Given the description of an element on the screen output the (x, y) to click on. 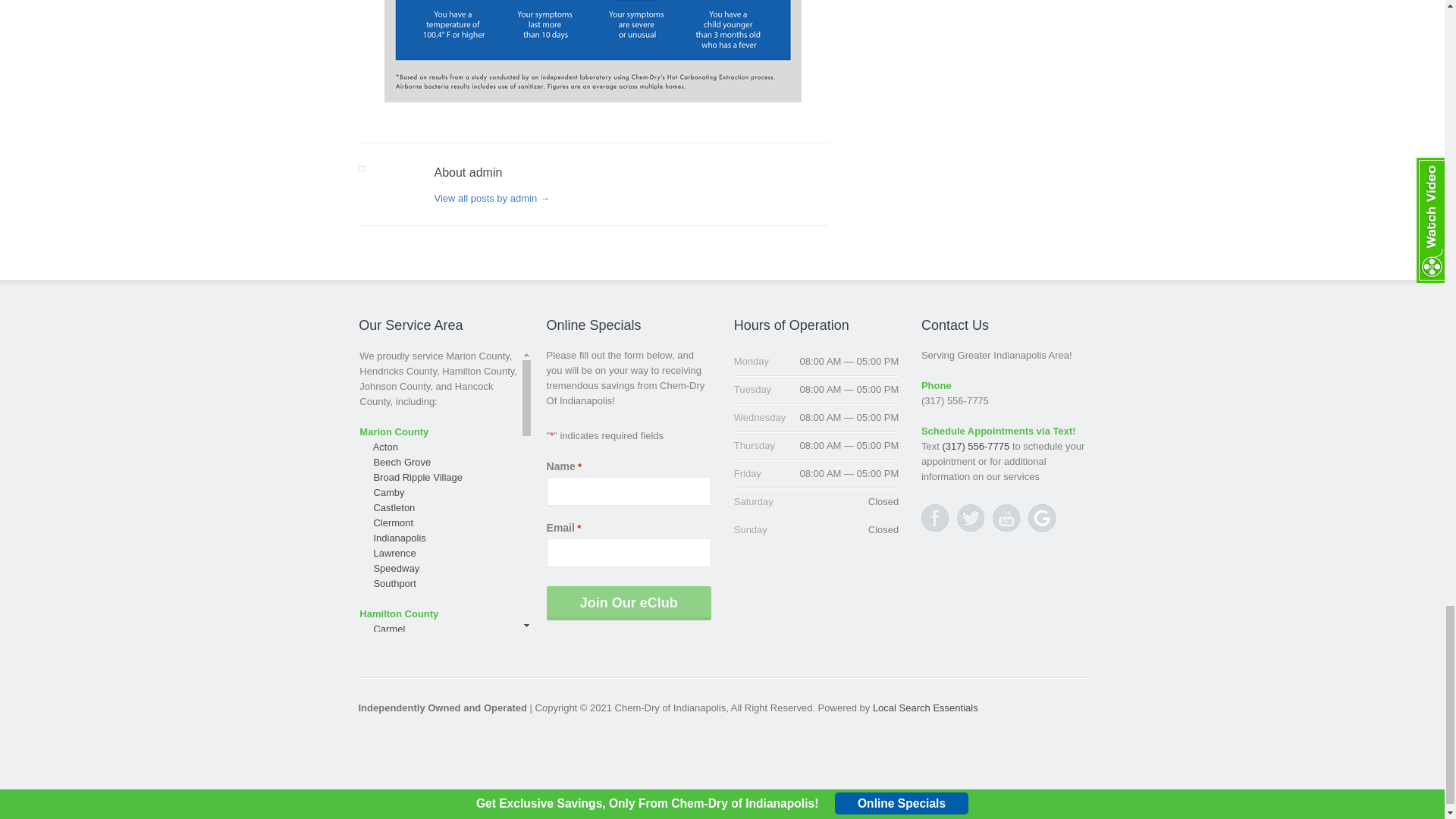
Broad Ripple Village (417, 477)
Beech Grove (401, 462)
Join Our eClub (629, 602)
Acton (384, 447)
Camby (388, 492)
